Given the description of an element on the screen output the (x, y) to click on. 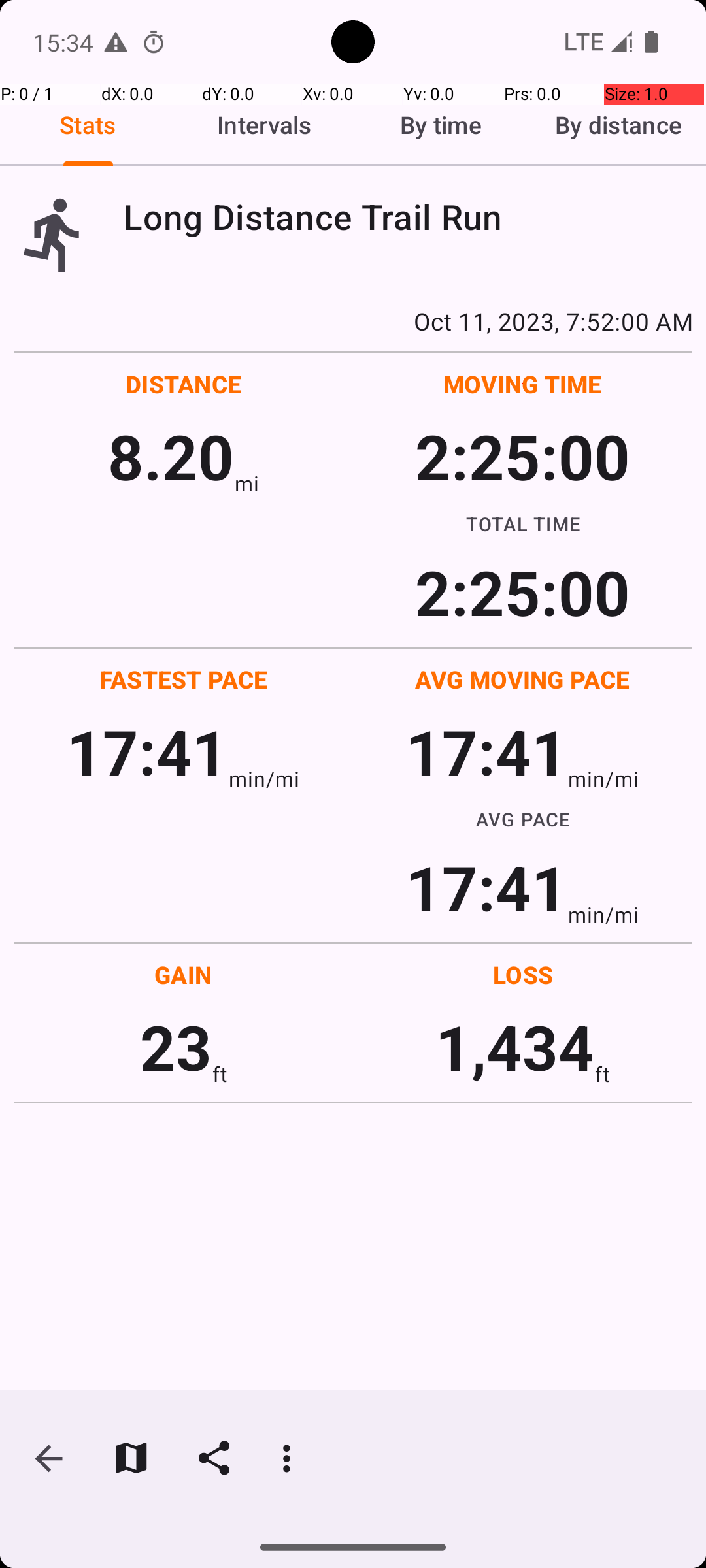
Long Distance Trail Run Element type: android.widget.TextView (407, 216)
Oct 11, 2023, 7:52:00 AM Element type: android.widget.TextView (352, 320)
8.20 Element type: android.widget.TextView (170, 455)
2:25:00 Element type: android.widget.TextView (522, 455)
FASTEST PACE Element type: android.widget.TextView (183, 678)
AVG MOVING PACE Element type: android.widget.TextView (522, 678)
17:41 Element type: android.widget.TextView (147, 750)
min/mi Element type: android.widget.TextView (264, 778)
AVG PACE Element type: android.widget.TextView (522, 818)
1,434 Element type: android.widget.TextView (514, 1045)
